Given the description of an element on the screen output the (x, y) to click on. 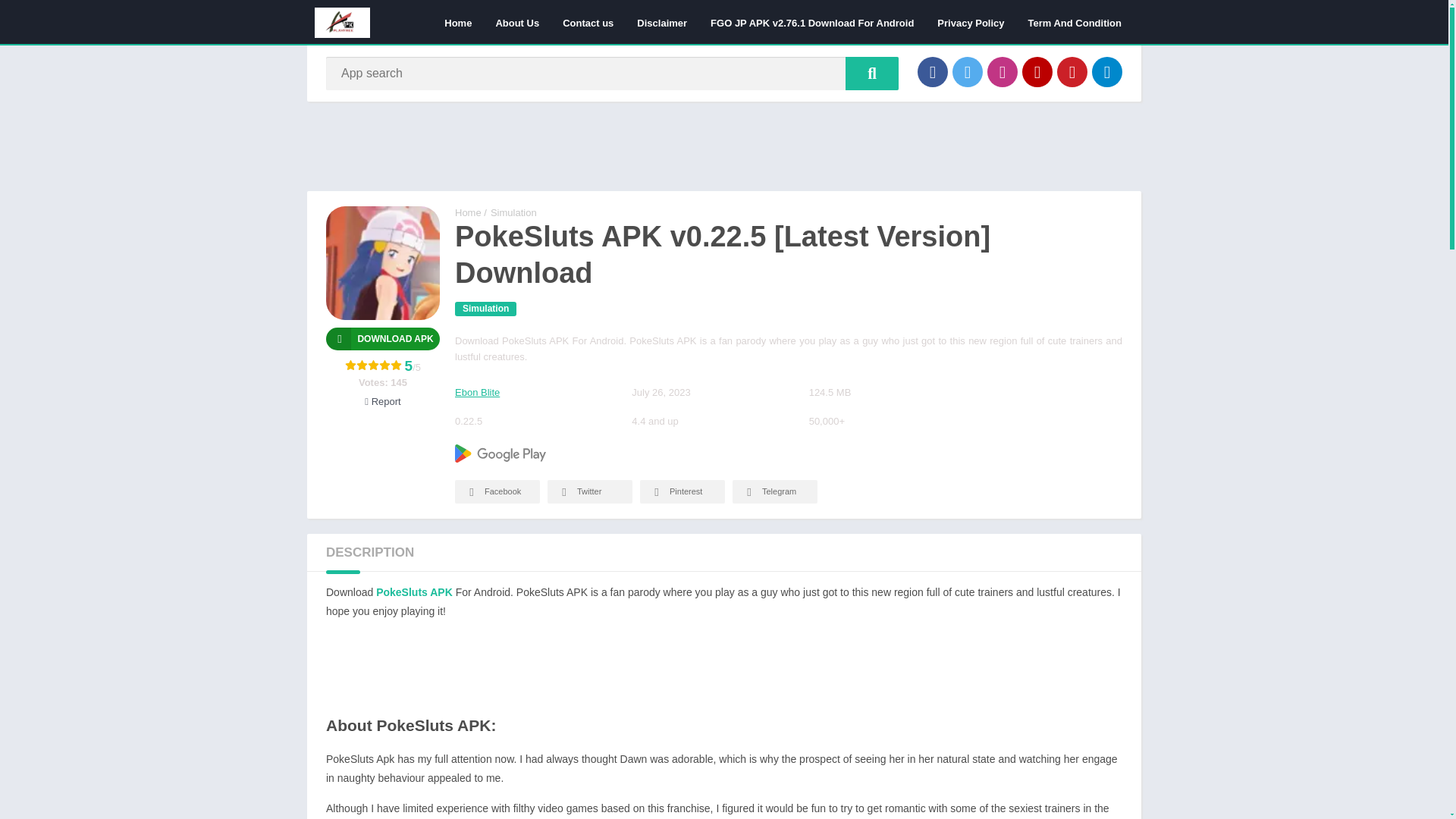
Home (457, 22)
Twitter (589, 491)
Disclaimer (662, 22)
YouTube (1037, 71)
Pinterest (1072, 71)
Twitter (967, 71)
Telegram (1107, 71)
Facebook (497, 491)
Simulation (485, 309)
Privacy Policy (970, 22)
Term And Condition (1074, 22)
ApkPlayFree  (467, 212)
Facebook (932, 71)
FGO JP APK v2.76.1 Download For Android (811, 22)
Simulation (513, 212)
